Given the description of an element on the screen output the (x, y) to click on. 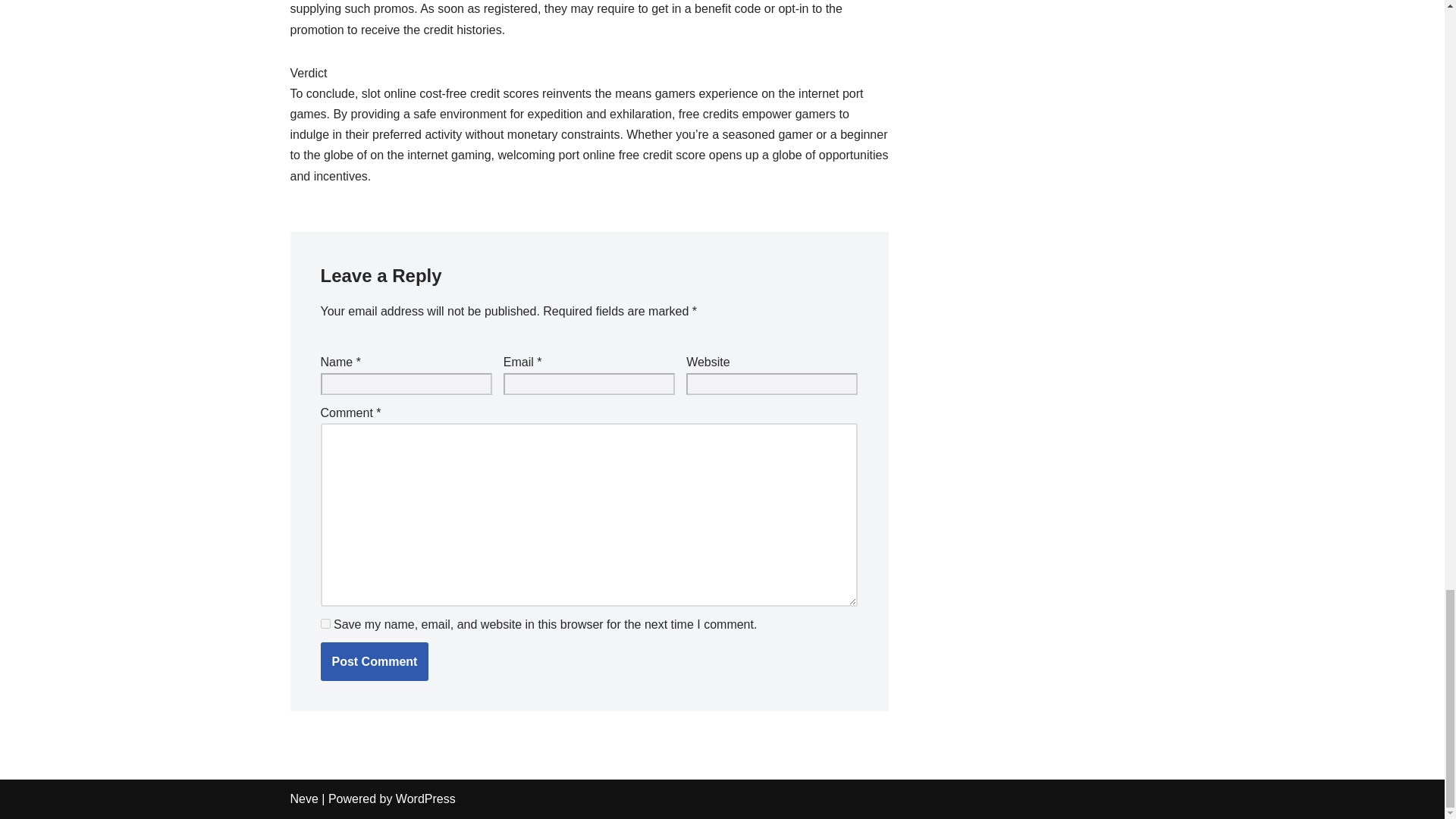
Post Comment (374, 661)
yes (325, 623)
Neve (303, 798)
WordPress (425, 798)
Post Comment (374, 661)
